Given the description of an element on the screen output the (x, y) to click on. 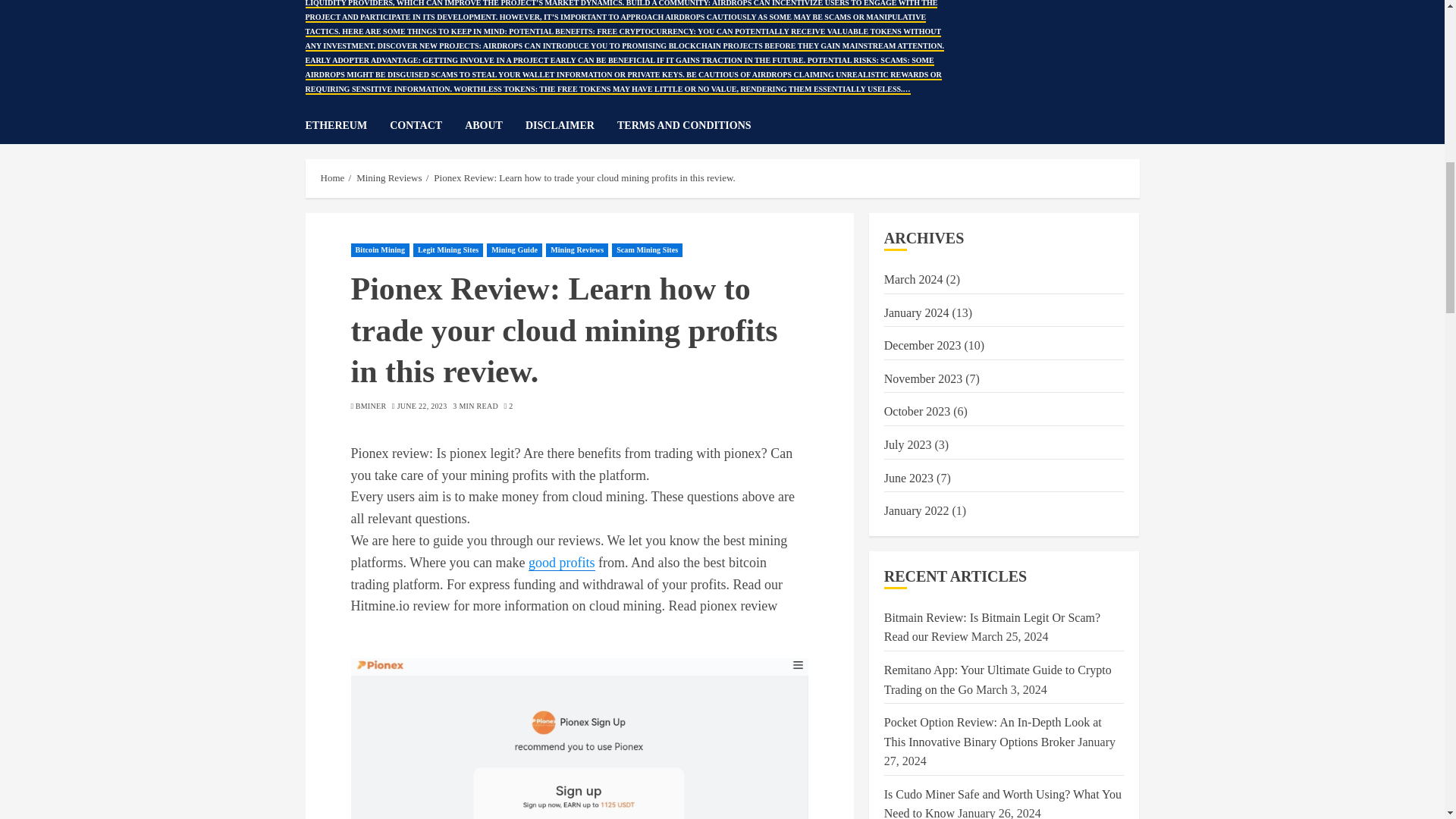
ETHEREUM (347, 125)
ABOUT (494, 125)
Mining Reviews (577, 250)
Mining Guide (513, 250)
Legit Mining Sites (448, 250)
Home (331, 177)
JUNE 22, 2023 (421, 406)
good profits (561, 562)
TERMS AND CONDITIONS (684, 125)
DISCLAIMER (571, 125)
Scam Mining Sites (646, 250)
BMINER (371, 406)
Bitcoin Mining (379, 250)
Mining Reviews (389, 177)
